Given the description of an element on the screen output the (x, y) to click on. 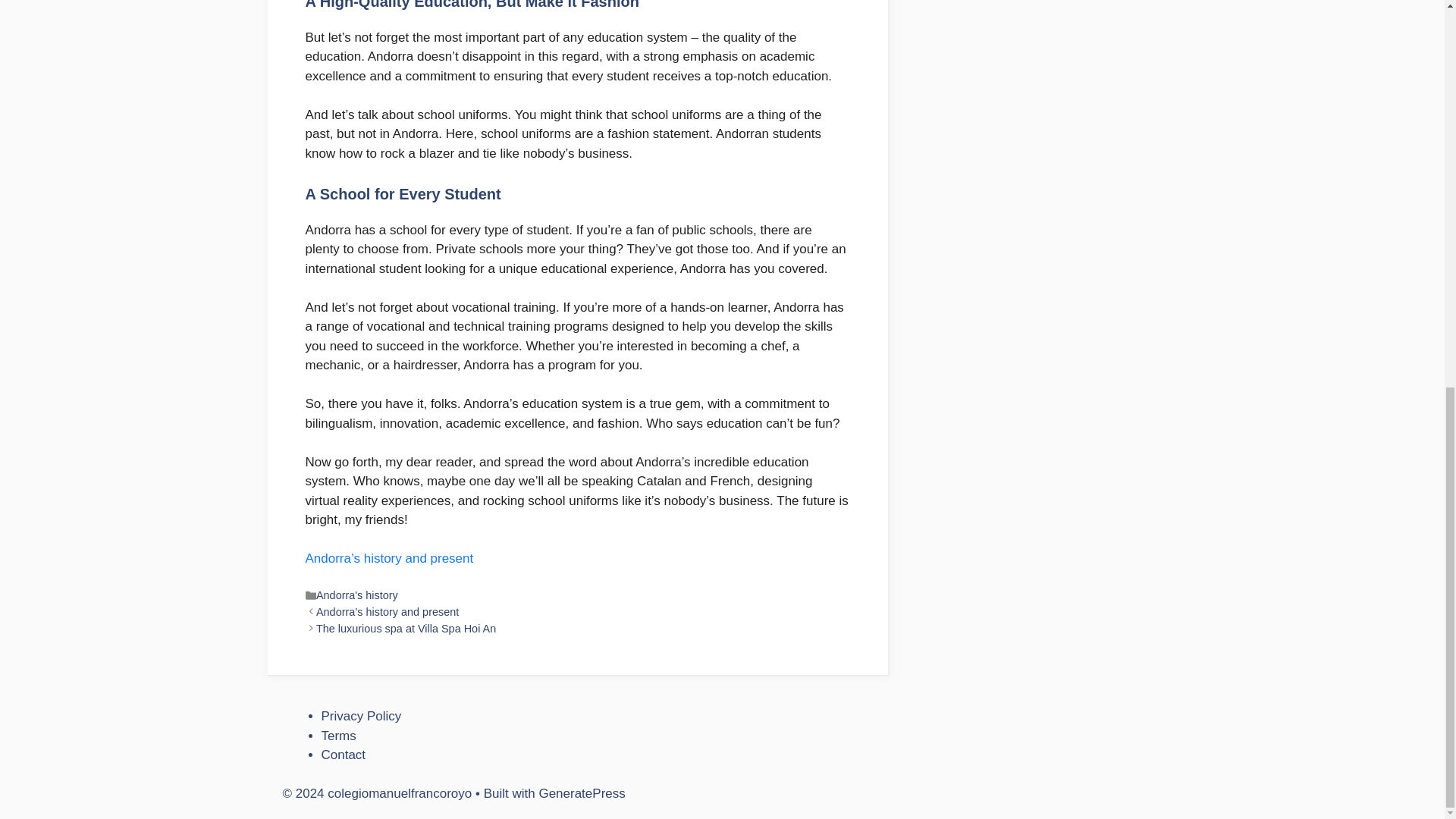
Privacy Policy (361, 716)
The luxurious spa at Villa Spa Hoi An (405, 628)
GeneratePress (581, 793)
Contact (343, 754)
Andorra's history (356, 594)
Terms (338, 735)
